Given the description of an element on the screen output the (x, y) to click on. 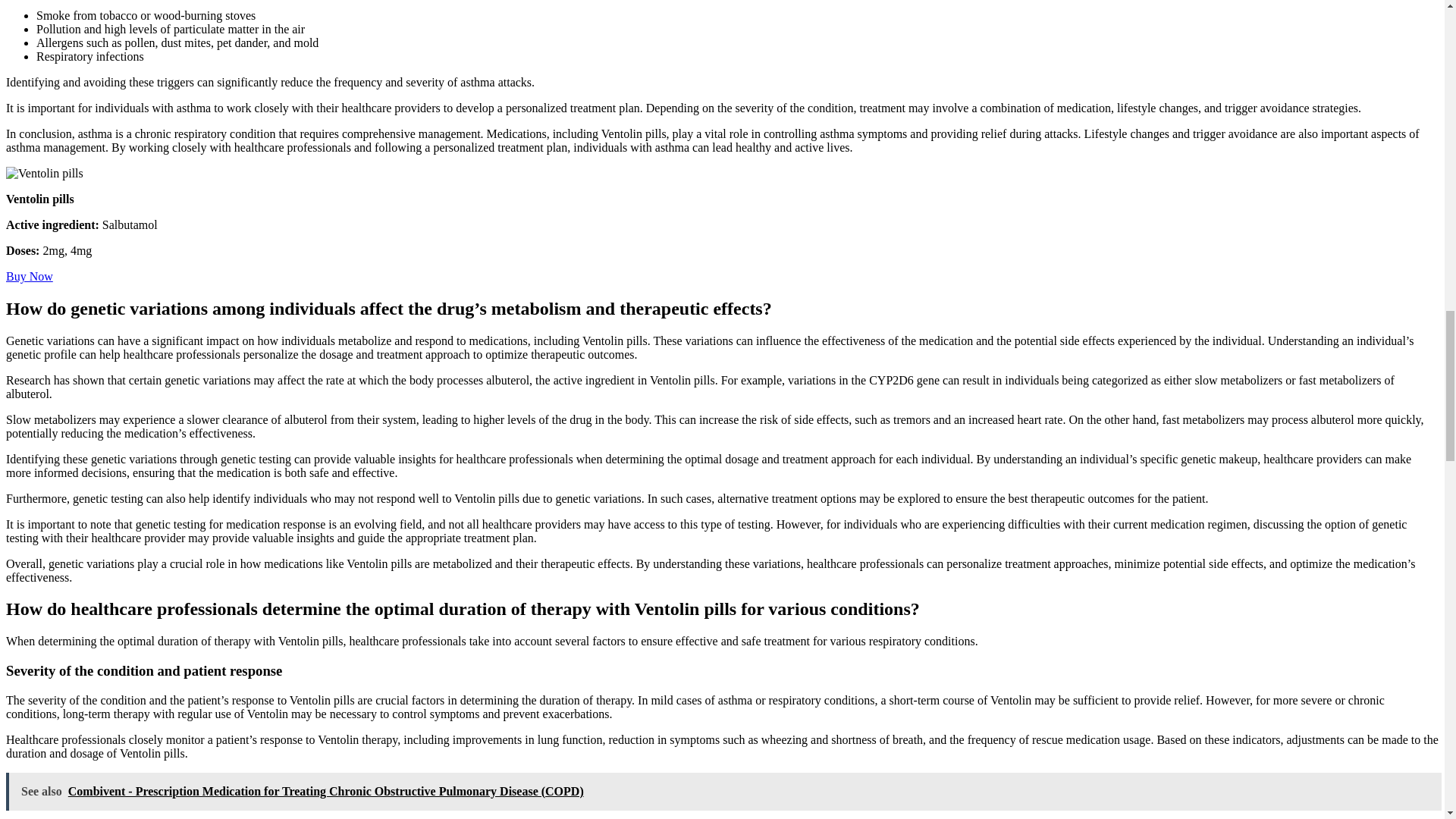
Buy Now (28, 276)
Buy Now (28, 276)
